Given the description of an element on the screen output the (x, y) to click on. 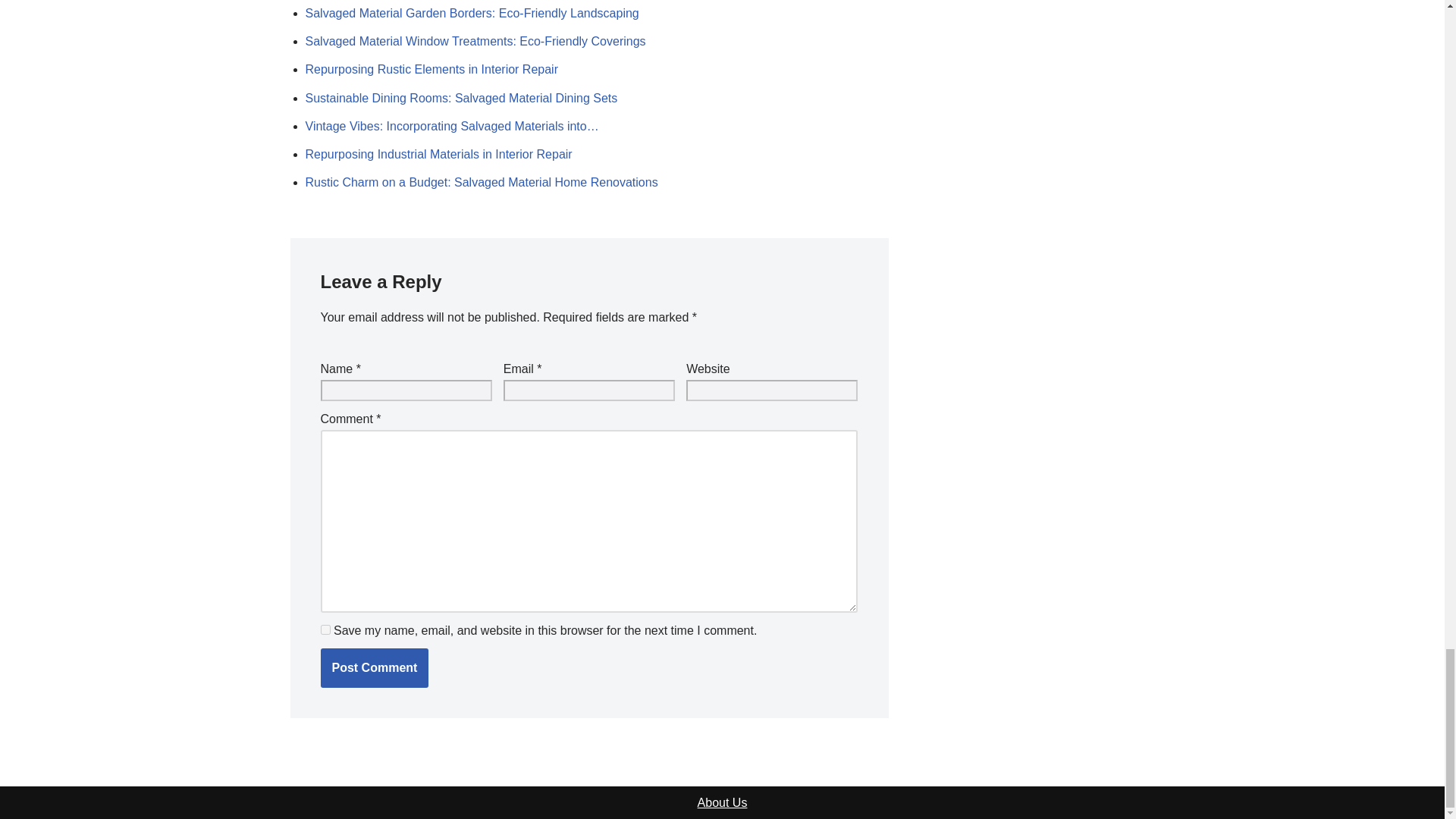
yes (325, 629)
Post Comment (374, 667)
